Given the description of an element on the screen output the (x, y) to click on. 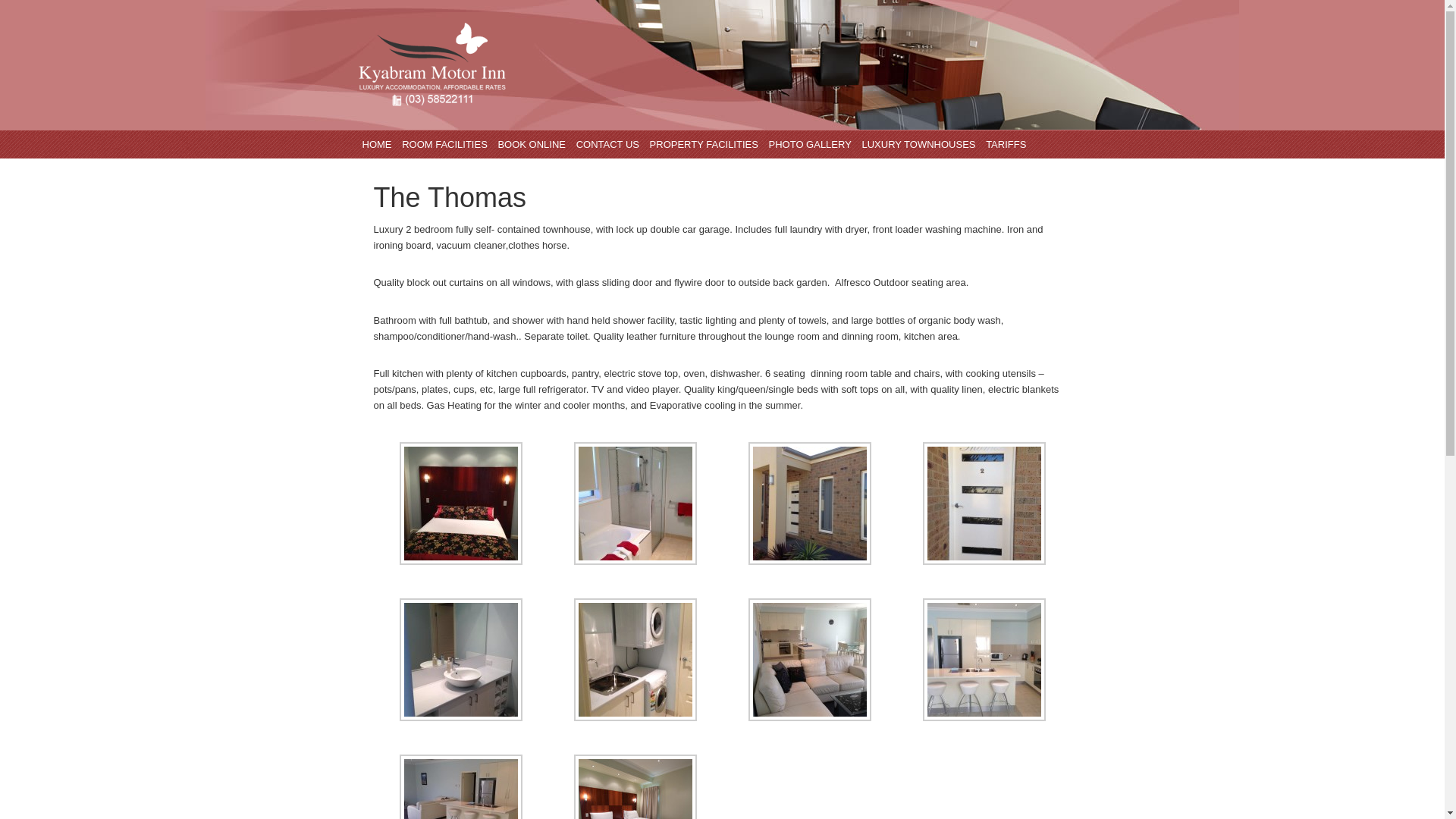
Kyabram Luxury Motel, Motor Inn Element type: text (721, 64)
CONTACT US Element type: text (607, 144)
PHOTO GALLERY Element type: text (809, 144)
LUXURY TOWNHOUSES Element type: text (918, 144)
HOME Element type: text (376, 144)
PROPERTY FACILITIES Element type: text (704, 144)
ROOM FACILITIES Element type: text (444, 144)
TARIFFS Element type: text (1005, 144)
BOOK ONLINE Element type: text (531, 144)
